Given the description of an element on the screen output the (x, y) to click on. 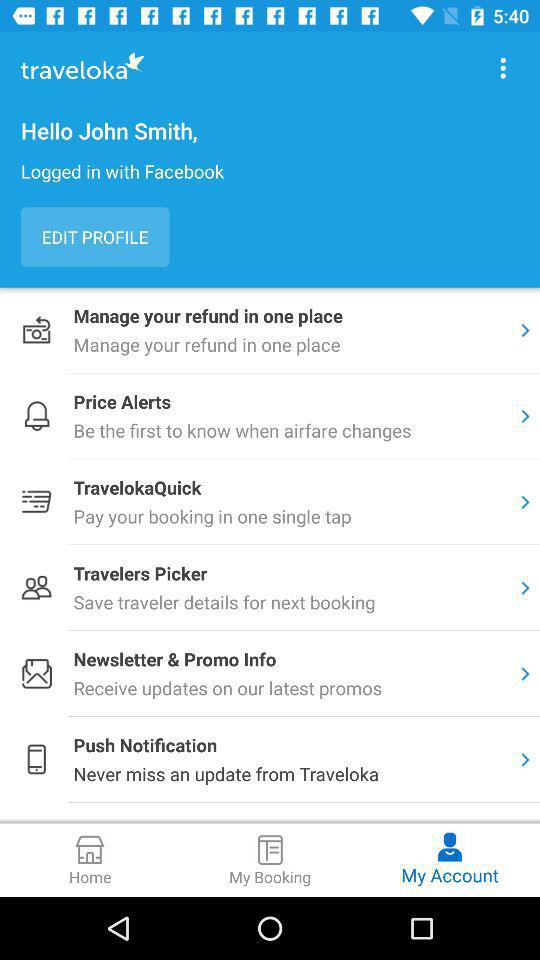
more information (503, 68)
